Given the description of an element on the screen output the (x, y) to click on. 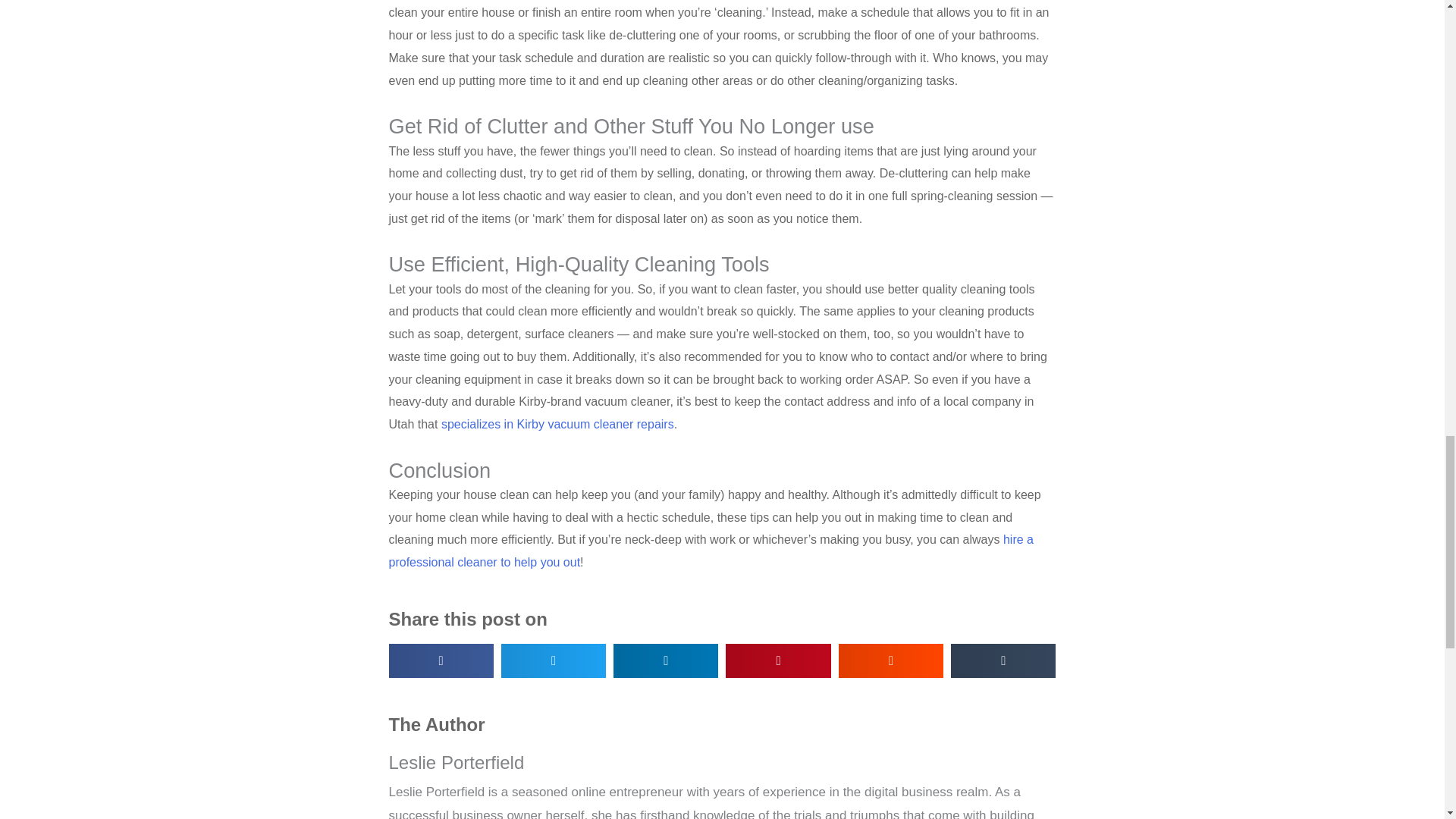
specializes in Kirby vacuum cleaner repairs (557, 423)
Vaccums360 (557, 423)
hire a professional cleaner to help you out (710, 550)
